Given the description of an element on the screen output the (x, y) to click on. 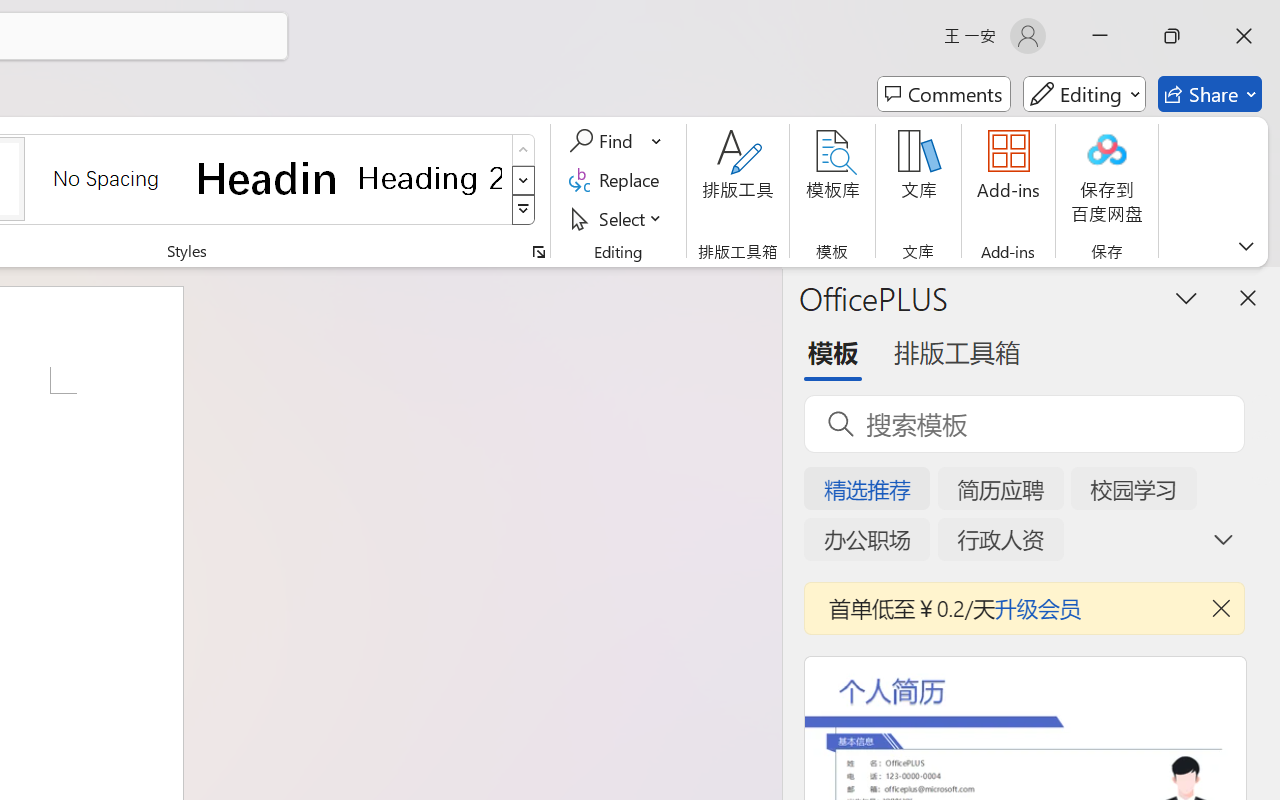
Comments (943, 94)
Find (616, 141)
Heading 1 (267, 178)
Row Down (523, 180)
Styles (523, 209)
Restore Down (1172, 36)
